Given the description of an element on the screen output the (x, y) to click on. 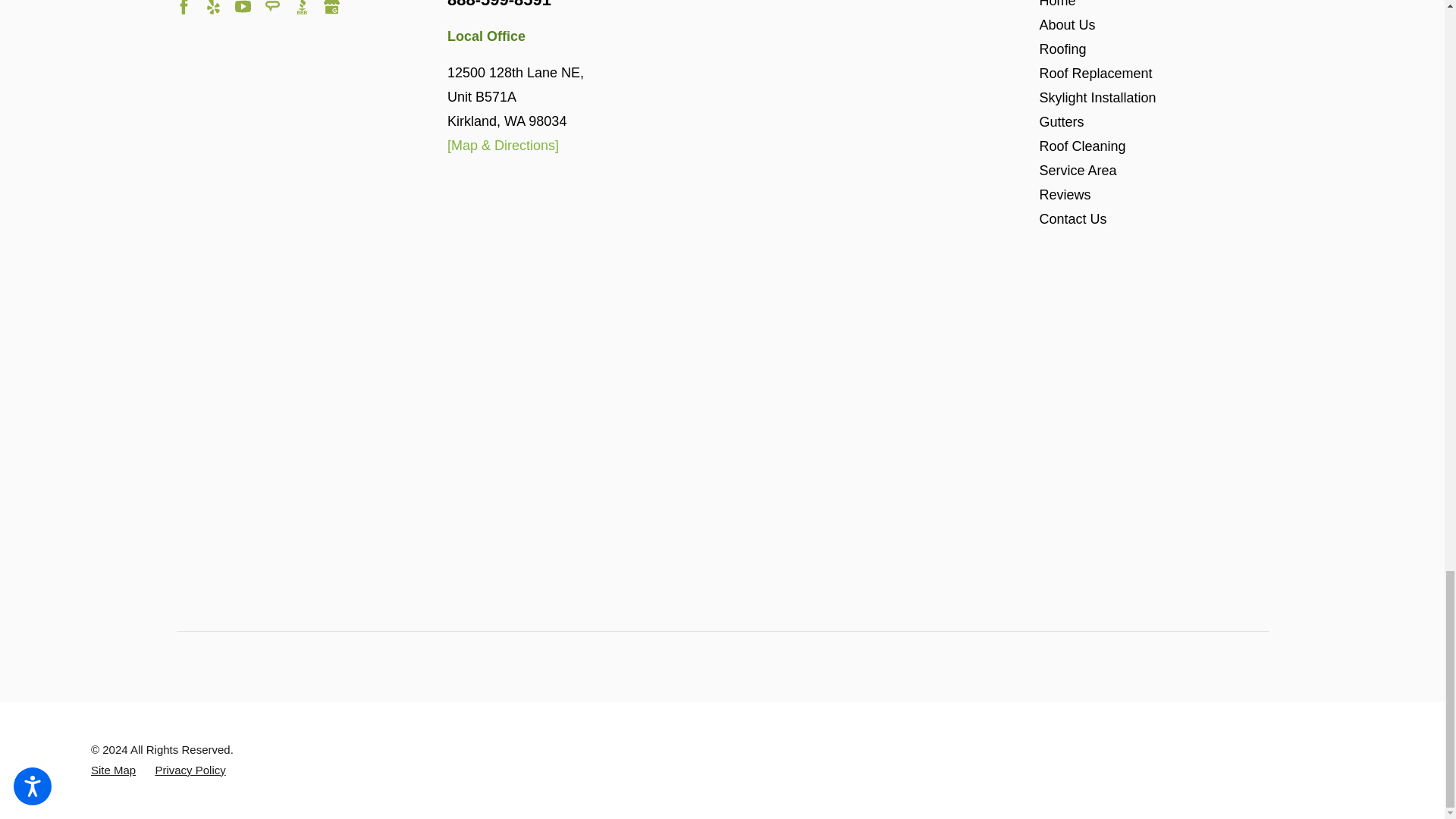
Angie's List (272, 7)
Facebook (184, 7)
YouTube (242, 7)
Yelp (213, 7)
